Given the description of an element on the screen output the (x, y) to click on. 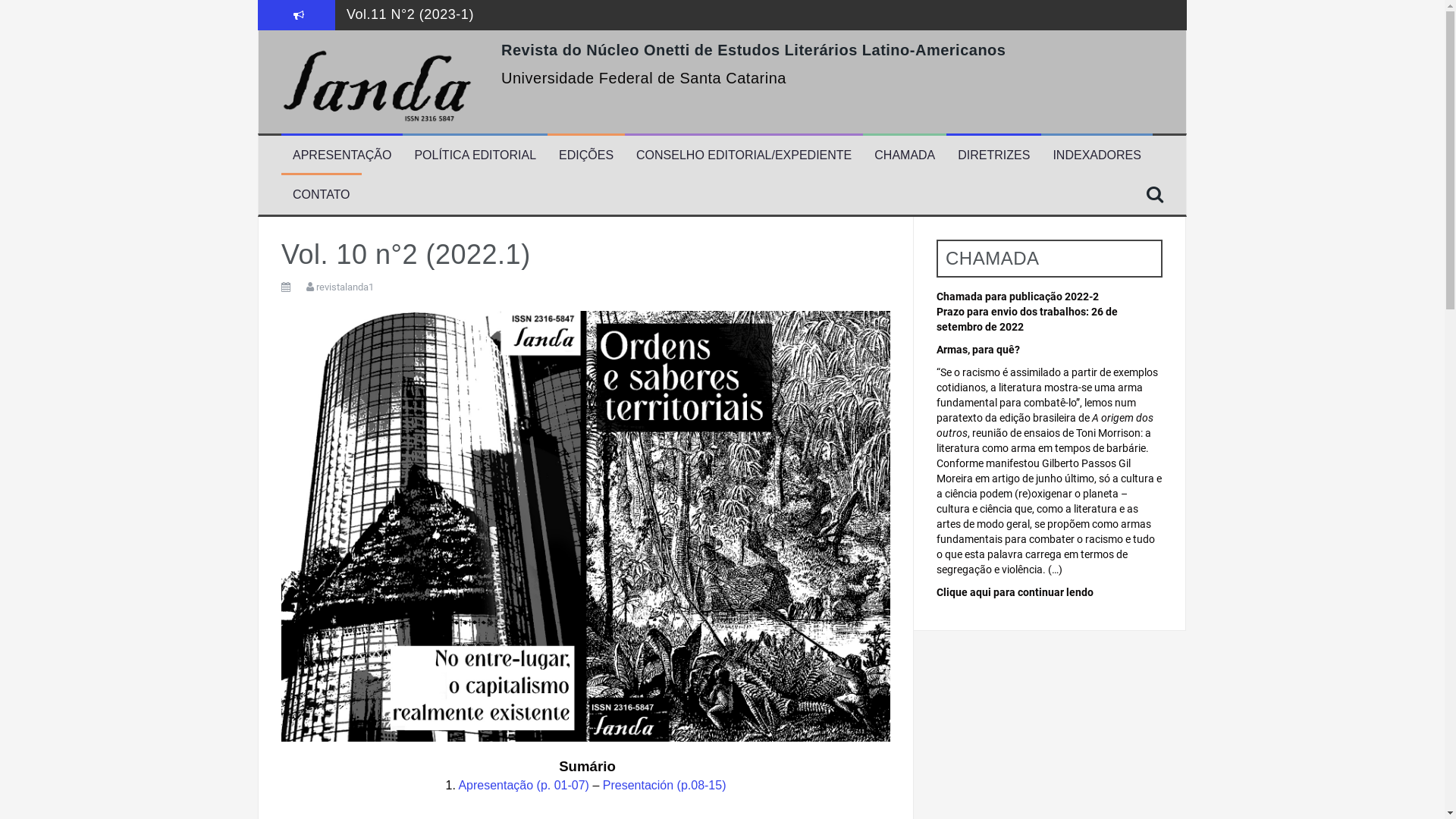
DIRETRIZES Element type: text (993, 155)
INDEXADORES Element type: text (1096, 155)
Clique aqui para continuar lendo Element type: text (1014, 592)
CONSELHO EDITORIAL/EXPEDIENTE Element type: text (743, 155)
CONTATO Element type: text (321, 194)
CHAMADA Element type: text (904, 155)
revistalanda1 Element type: text (344, 286)
